Given the description of an element on the screen output the (x, y) to click on. 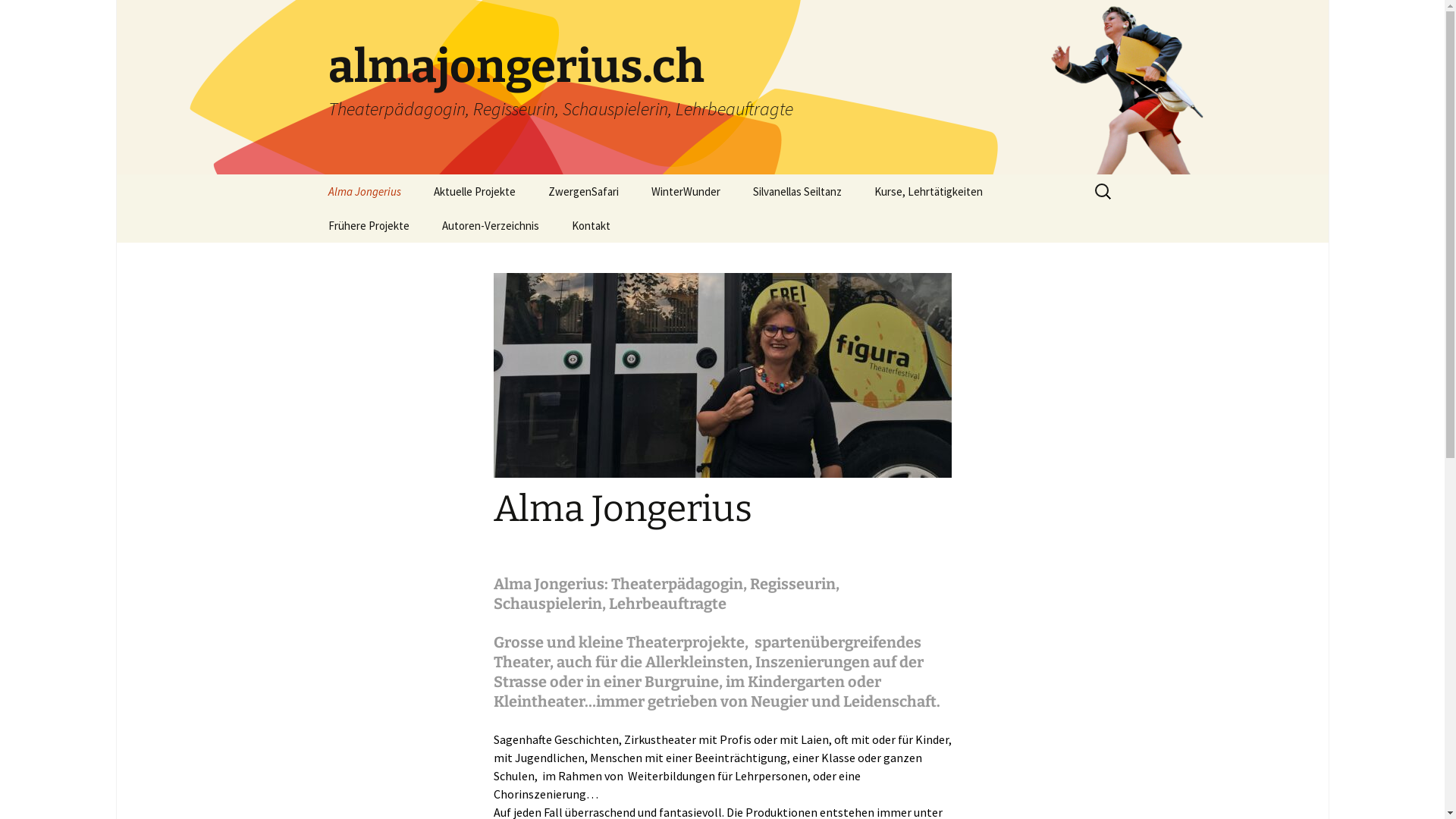
WinterWunder Element type: text (684, 191)
Aktuelle Projekte Element type: text (474, 191)
Springe zum Inhalt Element type: text (312, 173)
Alma Jongerius Element type: text (363, 191)
Silvanellas Seiltanz Element type: text (796, 191)
Autoren-Verzeichnis Element type: text (489, 225)
Suche Element type: text (32, 15)
Suche Element type: text (18, 16)
Kontakt Element type: text (590, 225)
ZwergenSafari Element type: text (582, 191)
